Given the description of an element on the screen output the (x, y) to click on. 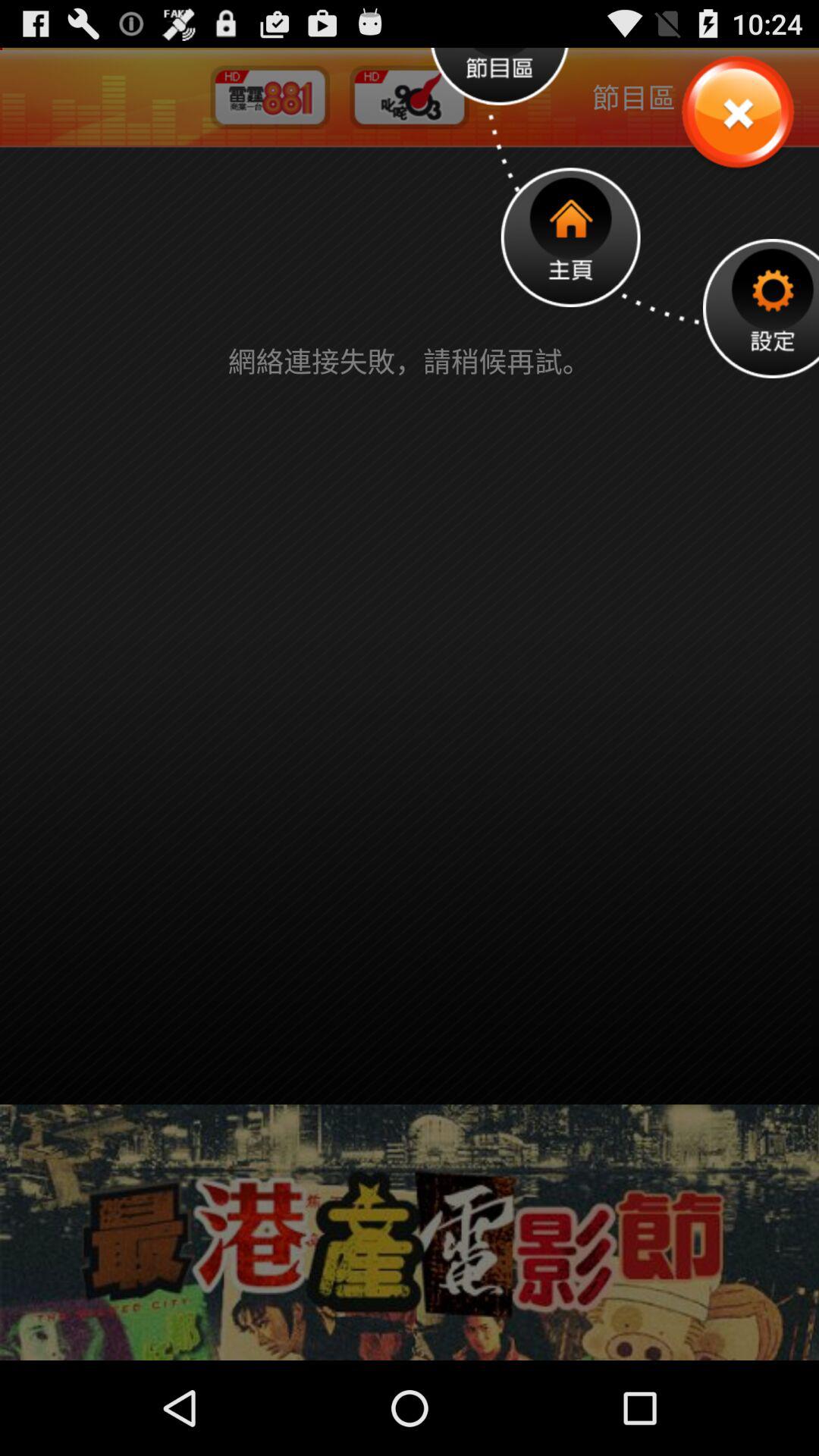
house (570, 237)
